Given the description of an element on the screen output the (x, y) to click on. 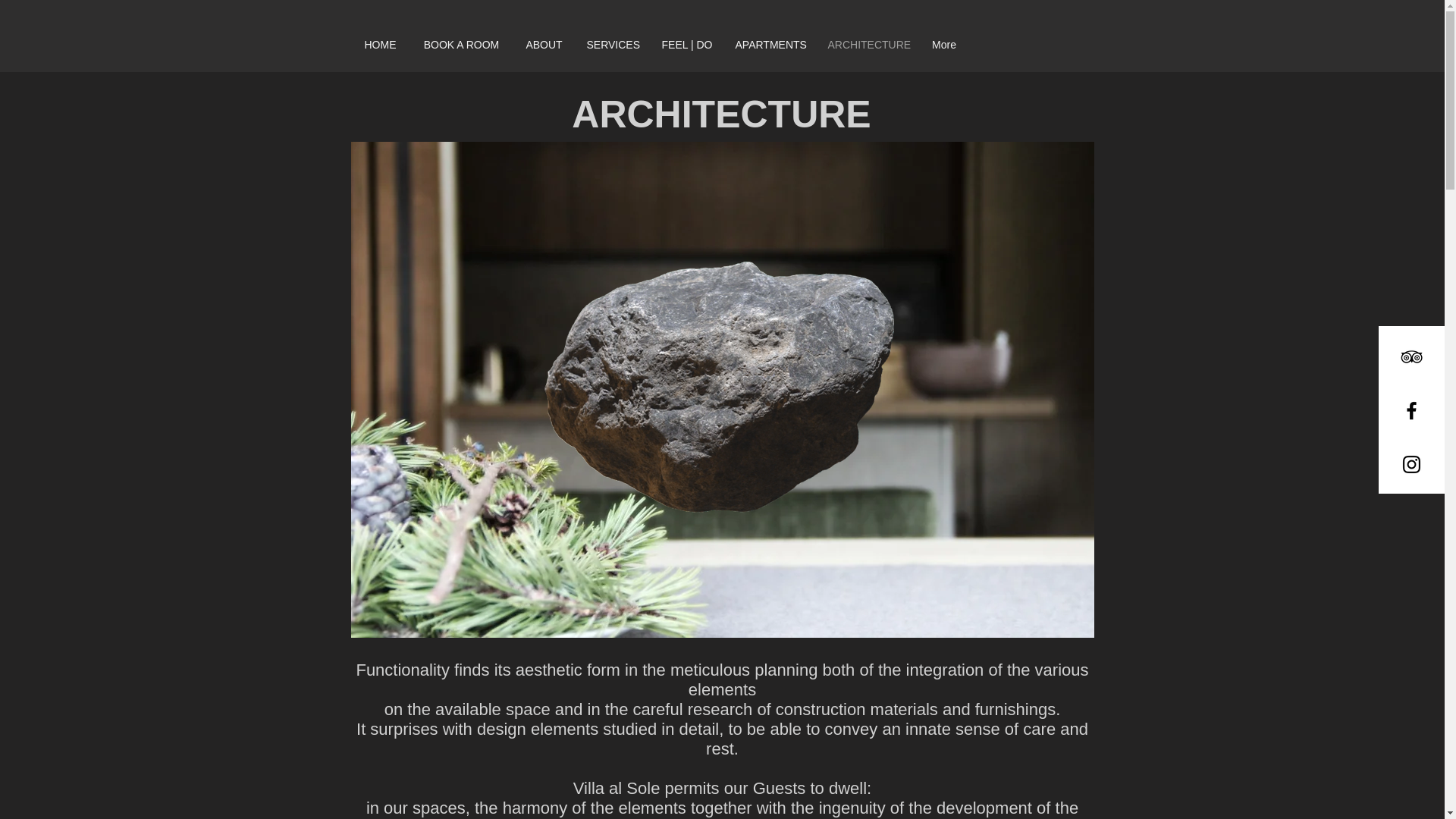
ARCHITECTURE (866, 44)
BOOK A ROOM (460, 44)
ABOUT (543, 44)
SERVICES (612, 44)
HOME (379, 44)
APARTMENTS (769, 44)
